Given the description of an element on the screen output the (x, y) to click on. 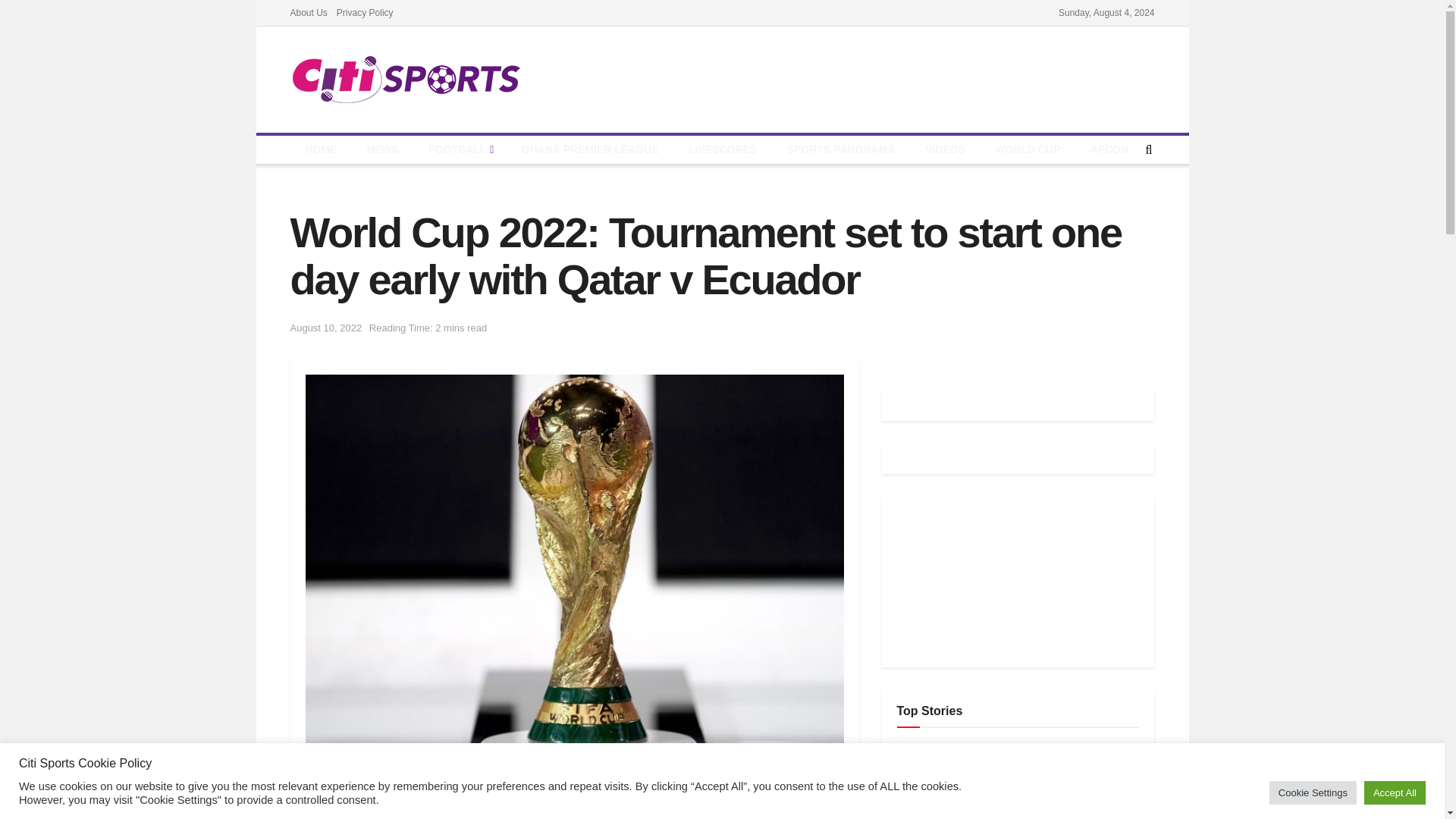
WORLD CUP (1027, 149)
SPORTS PANORAMA (840, 149)
FOOTBALL (459, 149)
About Us (307, 12)
Share via Whatsapp (724, 796)
AFCON (1108, 149)
August 10, 2022 (325, 327)
NEWS (382, 149)
Share on Twitter (555, 796)
HOME (319, 149)
VIDEOS (944, 149)
GHANA PREMIER LEAGUE (589, 149)
Privacy Policy (364, 12)
Share on Facebook (386, 796)
LIVESCORES (721, 149)
